Given the description of an element on the screen output the (x, y) to click on. 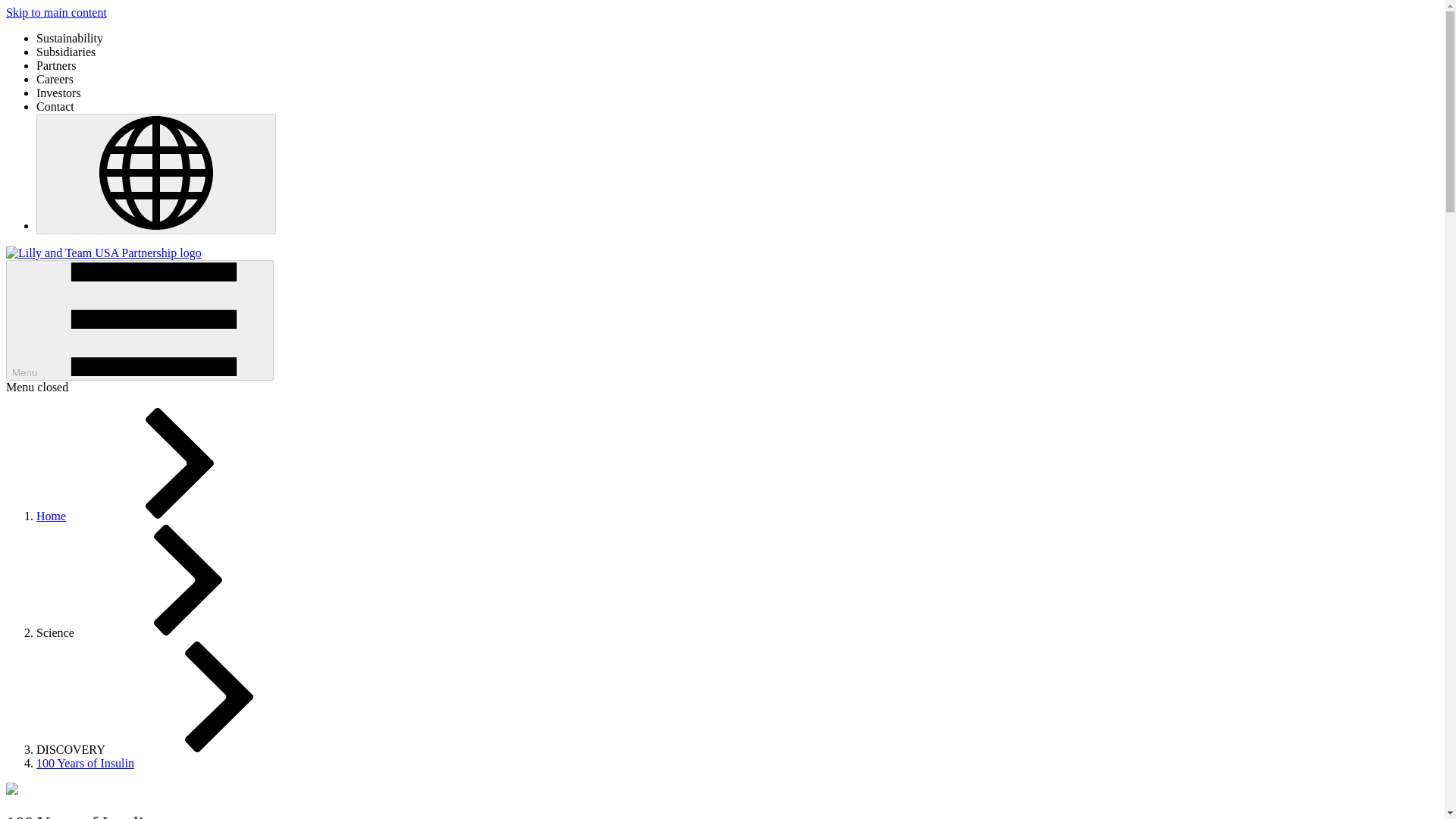
Right (218, 696)
Globe (155, 173)
Globe (156, 173)
Skip to main content (55, 11)
Menu (153, 318)
Globe (155, 173)
Right (187, 580)
Lilly and Team USA Partnership Logo (103, 253)
Right (179, 463)
Menu Menu (139, 320)
Menu (153, 318)
